Given the description of an element on the screen output the (x, y) to click on. 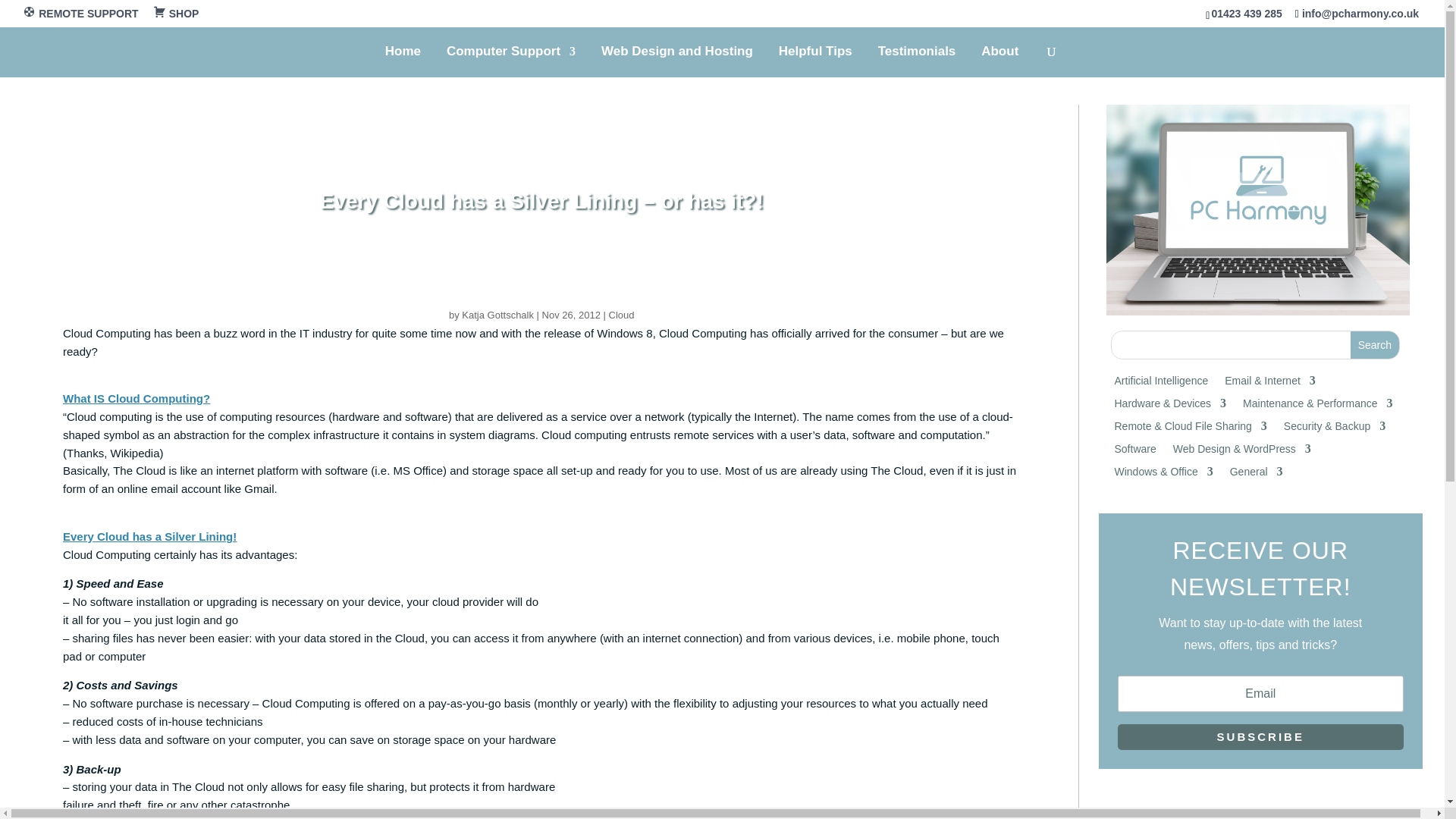
REMOTE SUPPORT (80, 17)
SHOP (175, 17)
Computer Support (510, 60)
Helpful Tips (814, 60)
About (999, 60)
Search (1375, 344)
Testimonials (916, 60)
Home (402, 60)
Posts by Katja Gottschalk (497, 315)
Web Design and Hosting (676, 60)
